Given the description of an element on the screen output the (x, y) to click on. 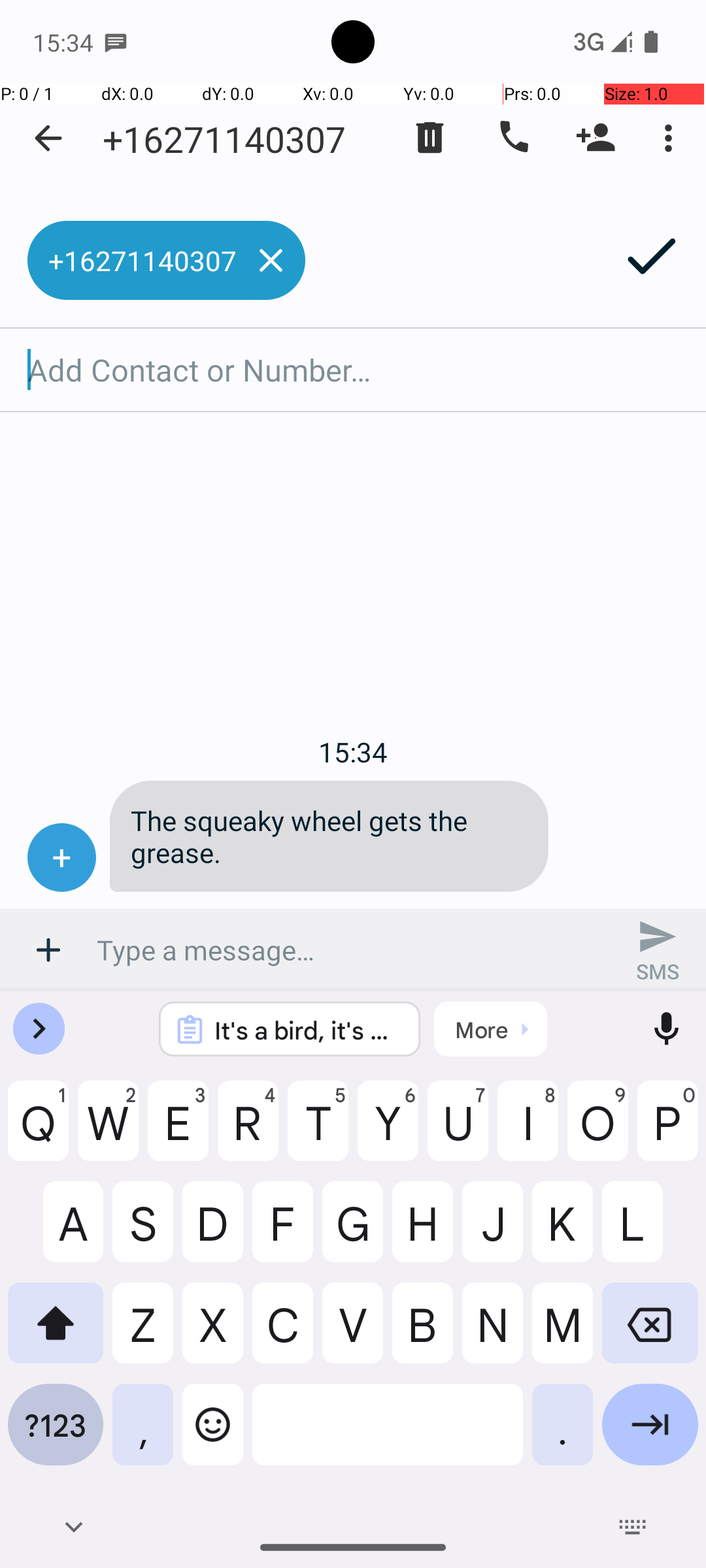
+16271140307 Element type: android.widget.TextView (223, 138)
Dial number Element type: android.widget.Button (512, 137)
Add Person Element type: android.widget.Button (595, 137)
Add Contact or Number… Element type: android.widget.AutoCompleteTextView (352, 369)
Attachment Element type: android.widget.ImageView (48, 949)
Type a message… Element type: android.widget.EditText (352, 949)
SMS Element type: android.widget.Button (657, 949)
The squeaky wheel gets the grease. Element type: android.widget.TextView (328, 835)
It's a bird, it's a plane. Element type: android.widget.TextView (306, 1029)
